Given the description of an element on the screen output the (x, y) to click on. 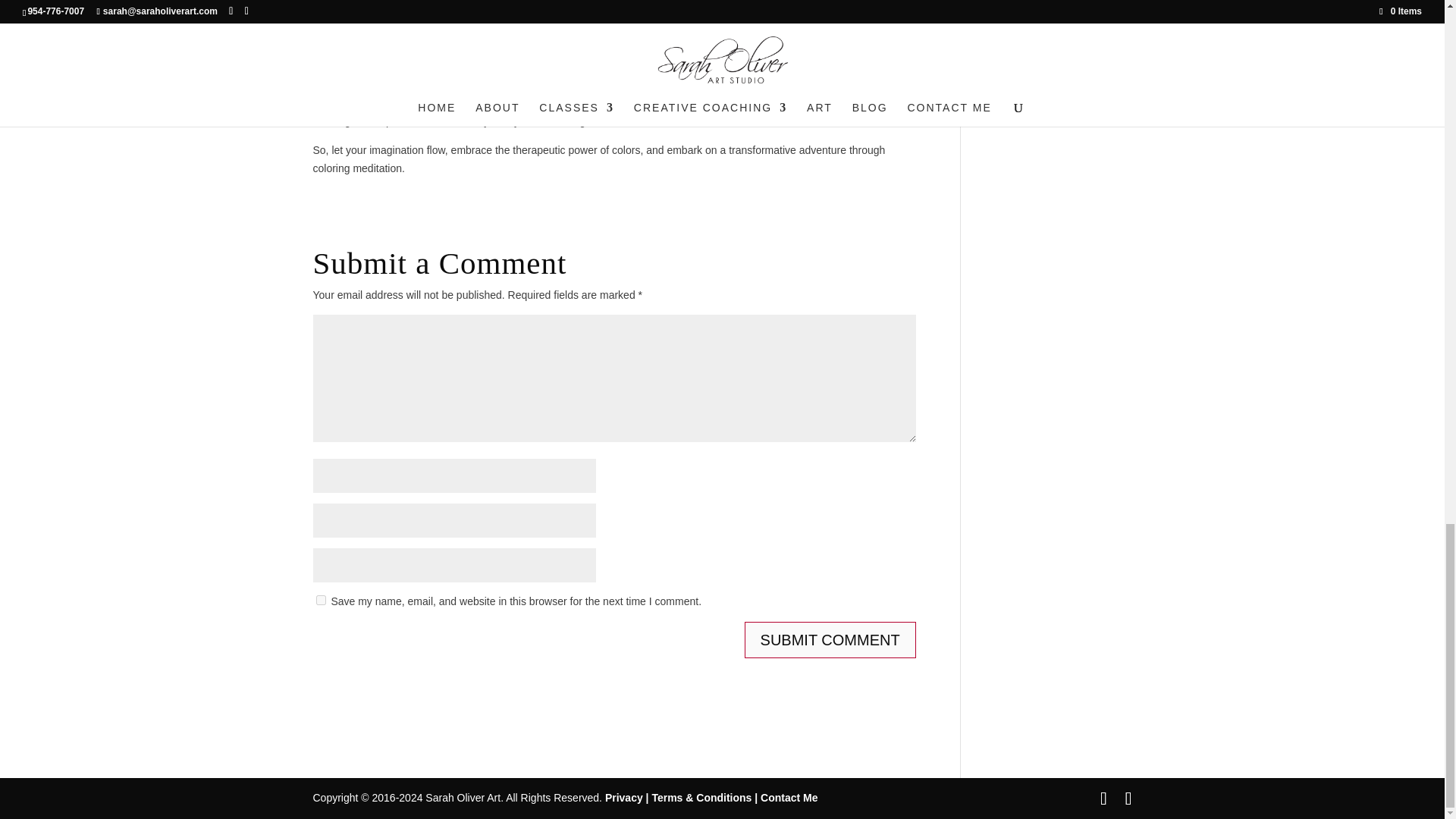
yes (319, 600)
Submit Comment (829, 639)
